Given the description of an element on the screen output the (x, y) to click on. 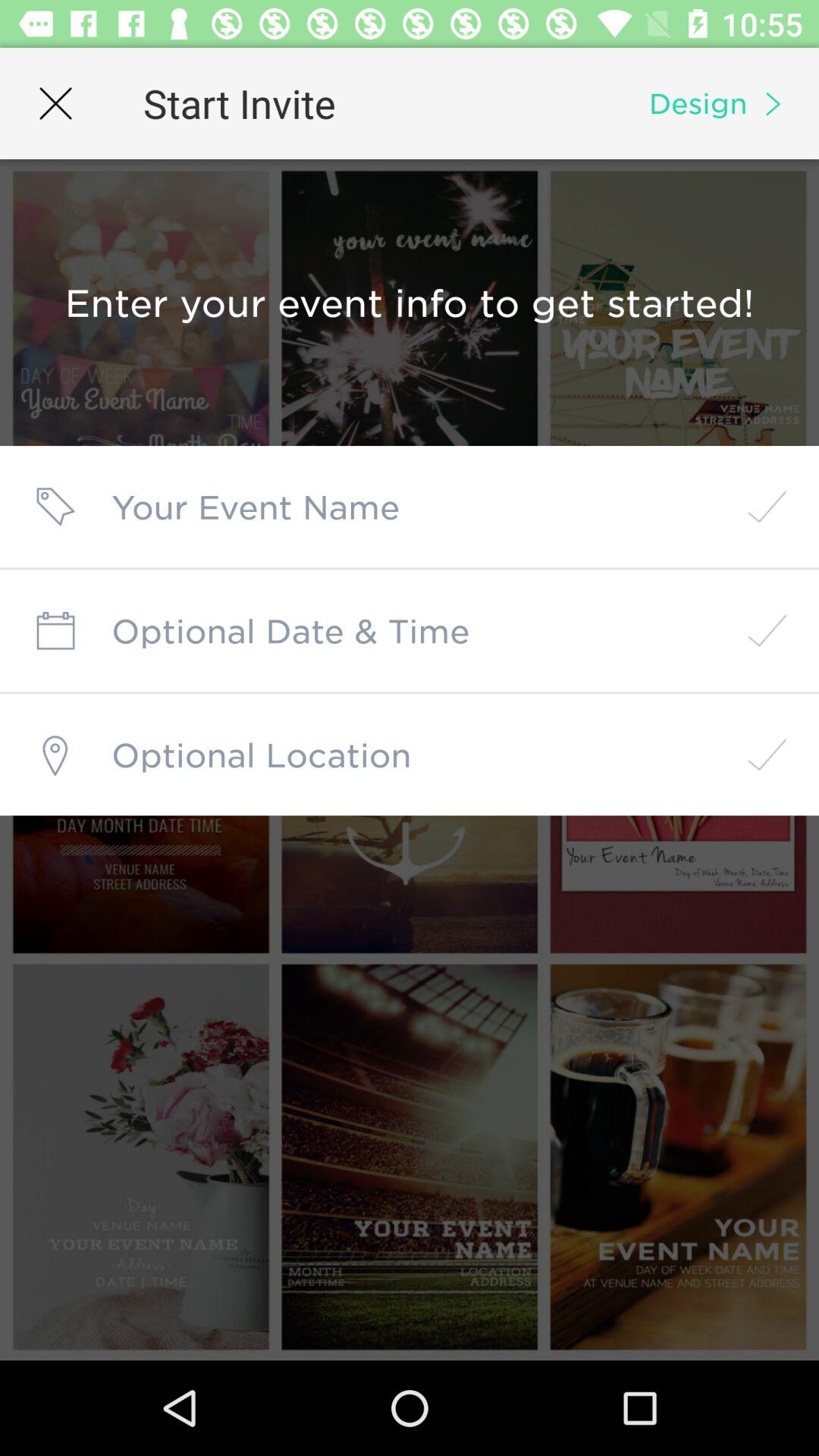
share date and time (409, 630)
